Given the description of an element on the screen output the (x, y) to click on. 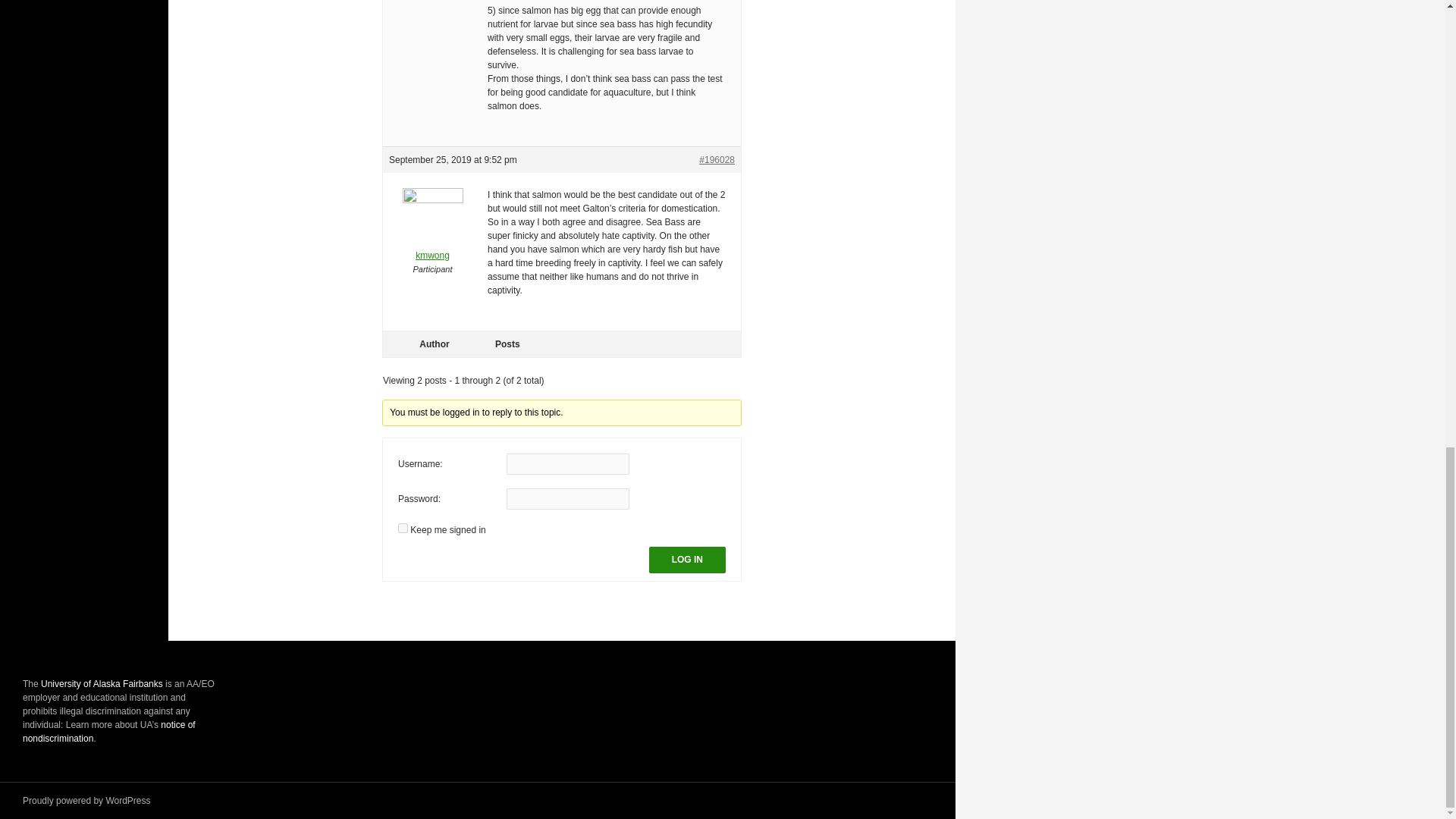
View kmwong's profile (432, 235)
forever (402, 528)
